Given the description of an element on the screen output the (x, y) to click on. 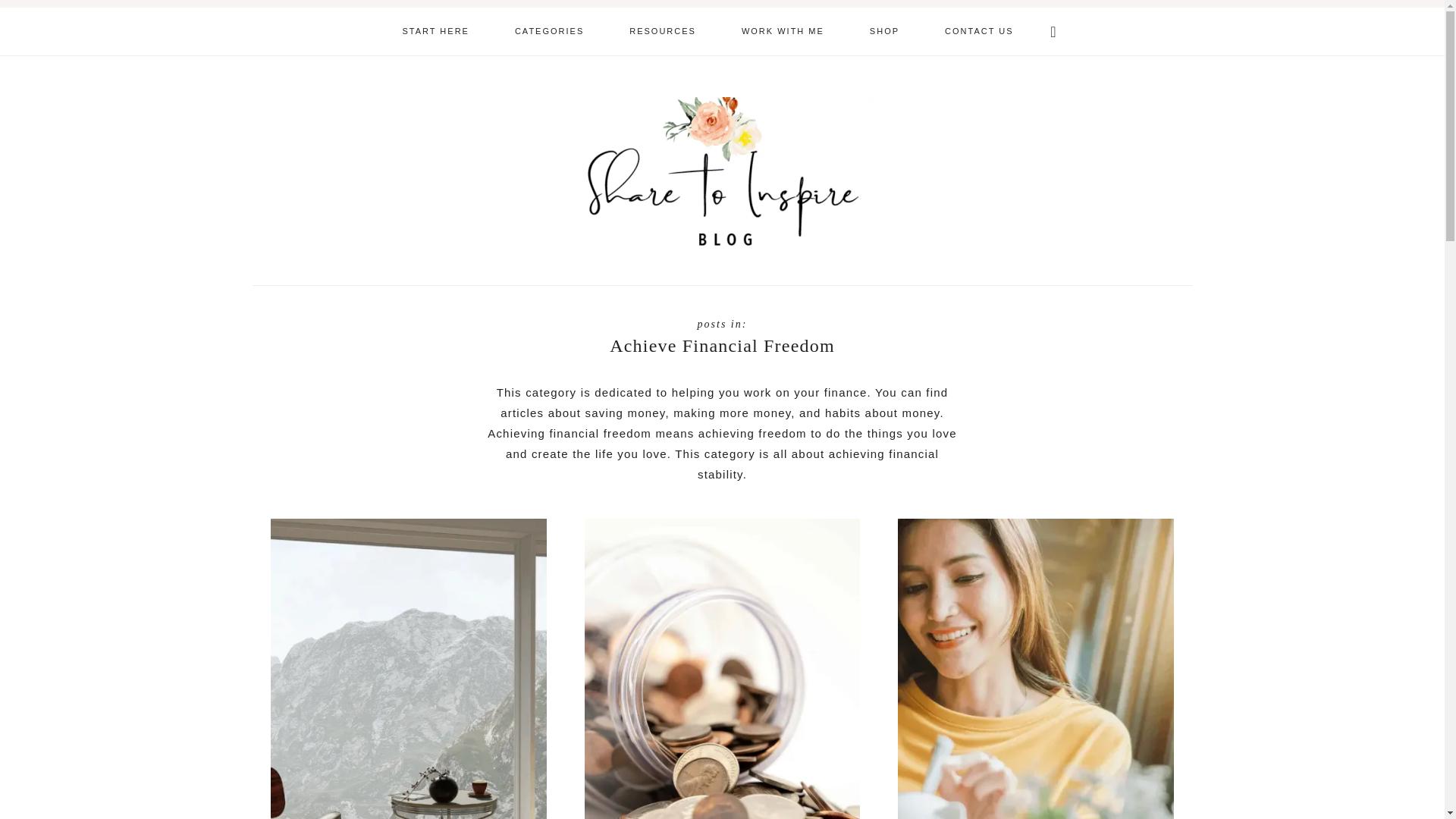
WORK WITH ME (783, 31)
CATEGORIES (549, 31)
START HERE (435, 31)
CONTACT US (978, 31)
RESOURCES (663, 31)
